Given the description of an element on the screen output the (x, y) to click on. 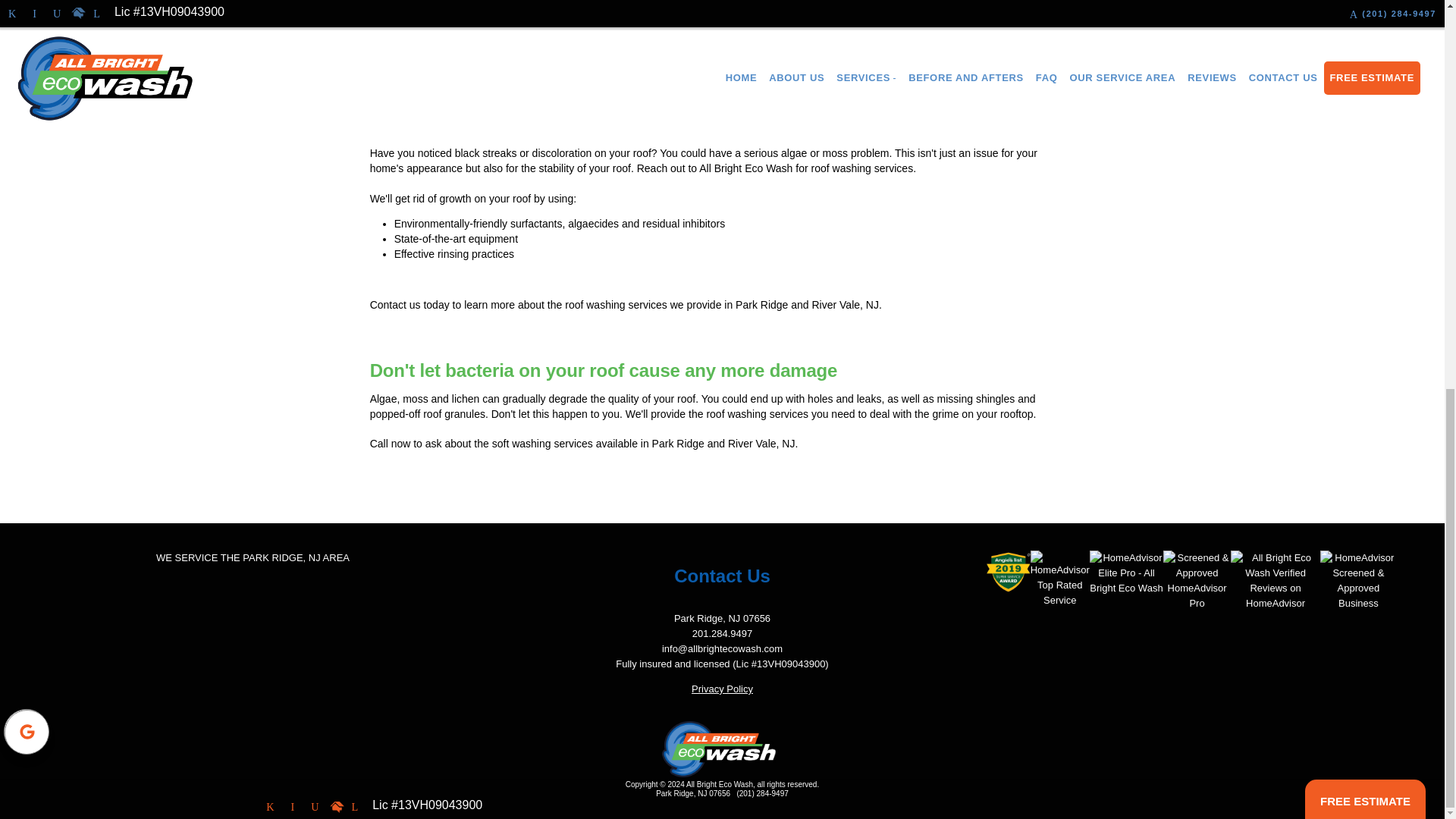
Open Menu (1374, 808)
Angie's List (314, 806)
Email Us (354, 806)
All Bright Eco Wash (722, 749)
Home Advisor (335, 806)
Privacy Policy (721, 688)
Instagram (292, 806)
Facebook (269, 806)
